Given the description of an element on the screen output the (x, y) to click on. 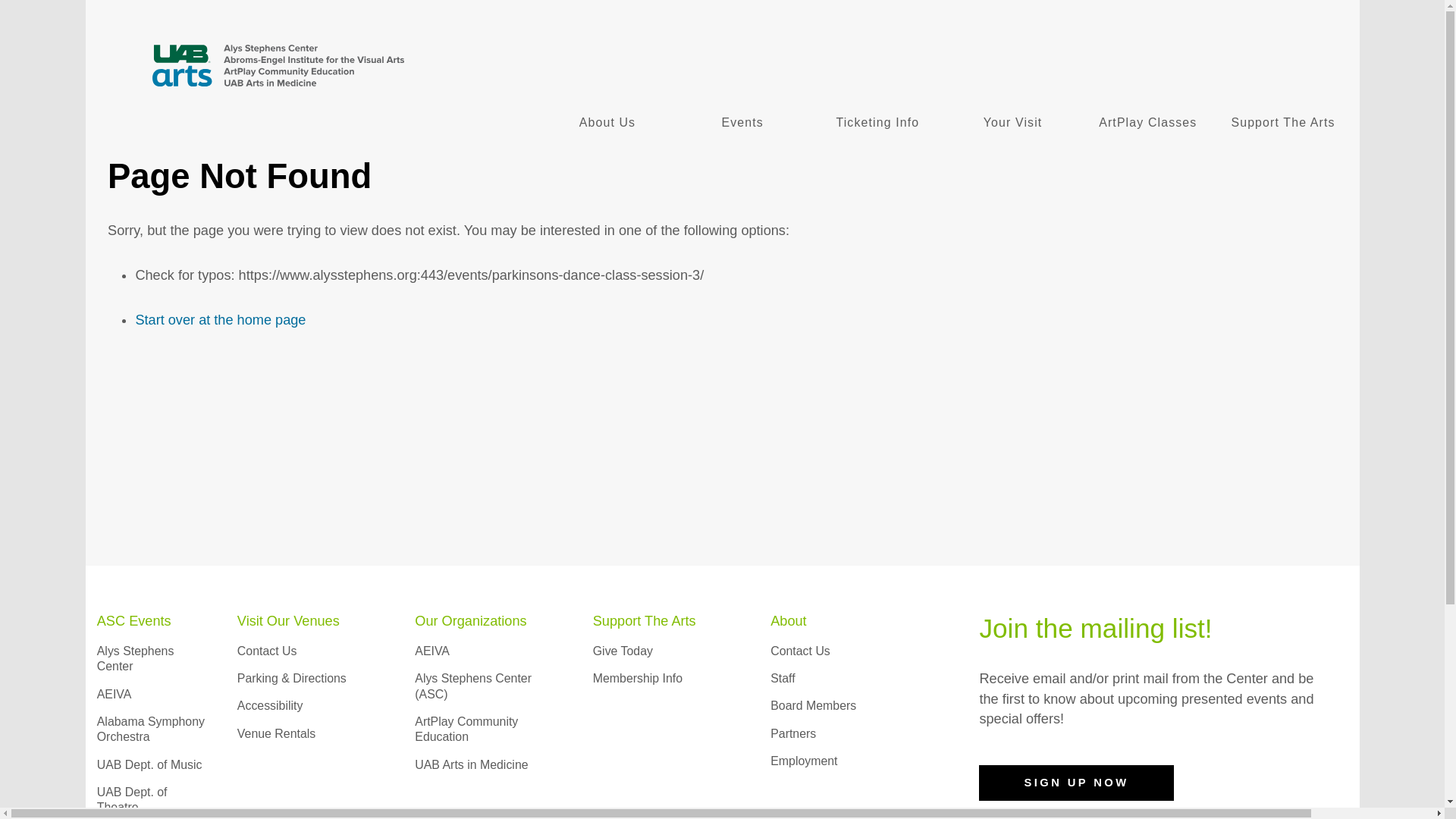
ASC Events (134, 620)
Your Visit (1012, 122)
Start over at the home page (220, 319)
SIGN UP NOW (1075, 782)
ArtPlay Classes (1147, 122)
Events (742, 122)
Ticketing Info (876, 122)
Alys Stephens Center (135, 658)
Support The Arts (1283, 122)
About Us (607, 122)
